Given the description of an element on the screen output the (x, y) to click on. 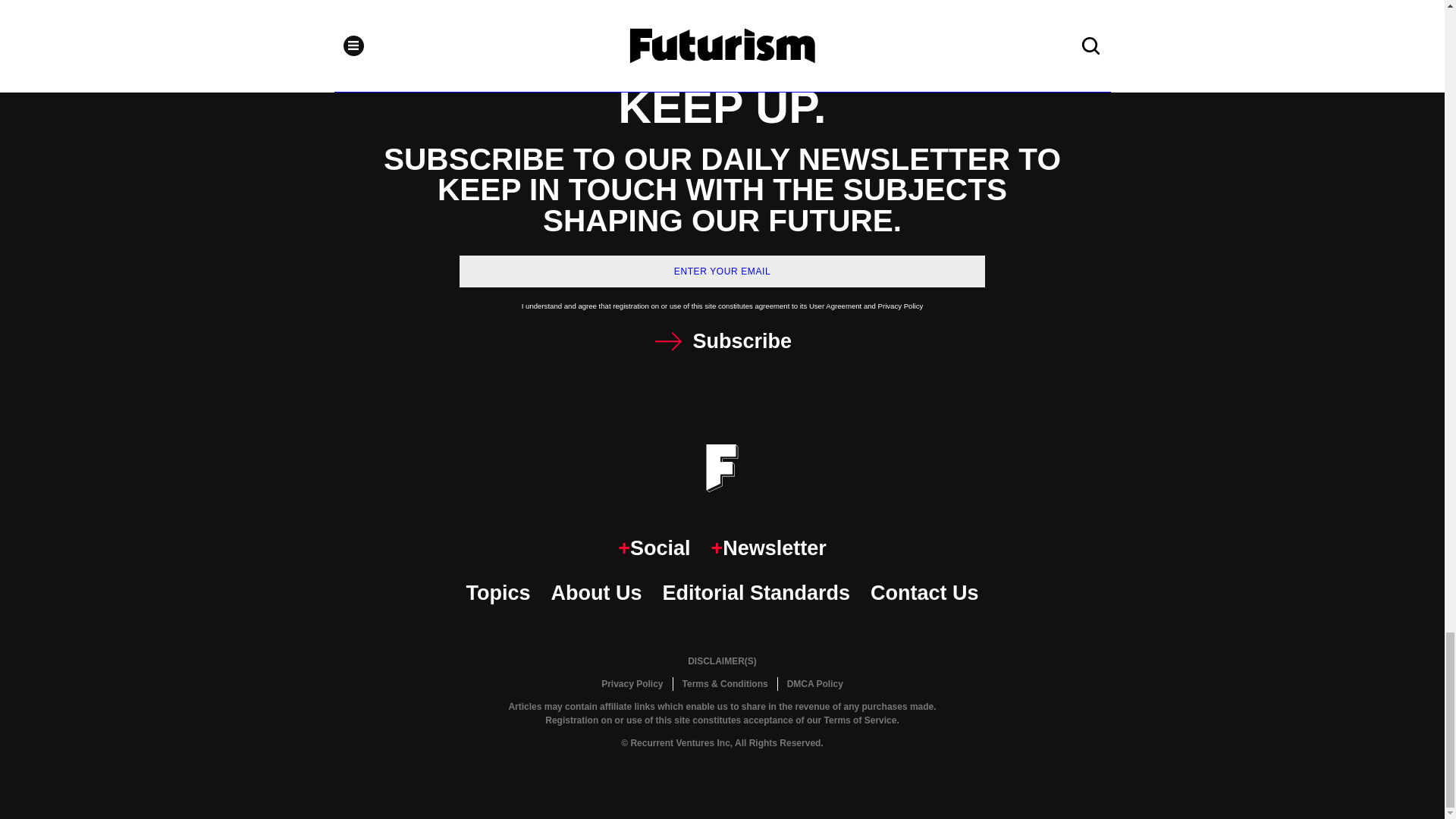
Editorial Standards (756, 593)
Subscribe (722, 341)
Topics (497, 593)
About Us (596, 593)
